Given the description of an element on the screen output the (x, y) to click on. 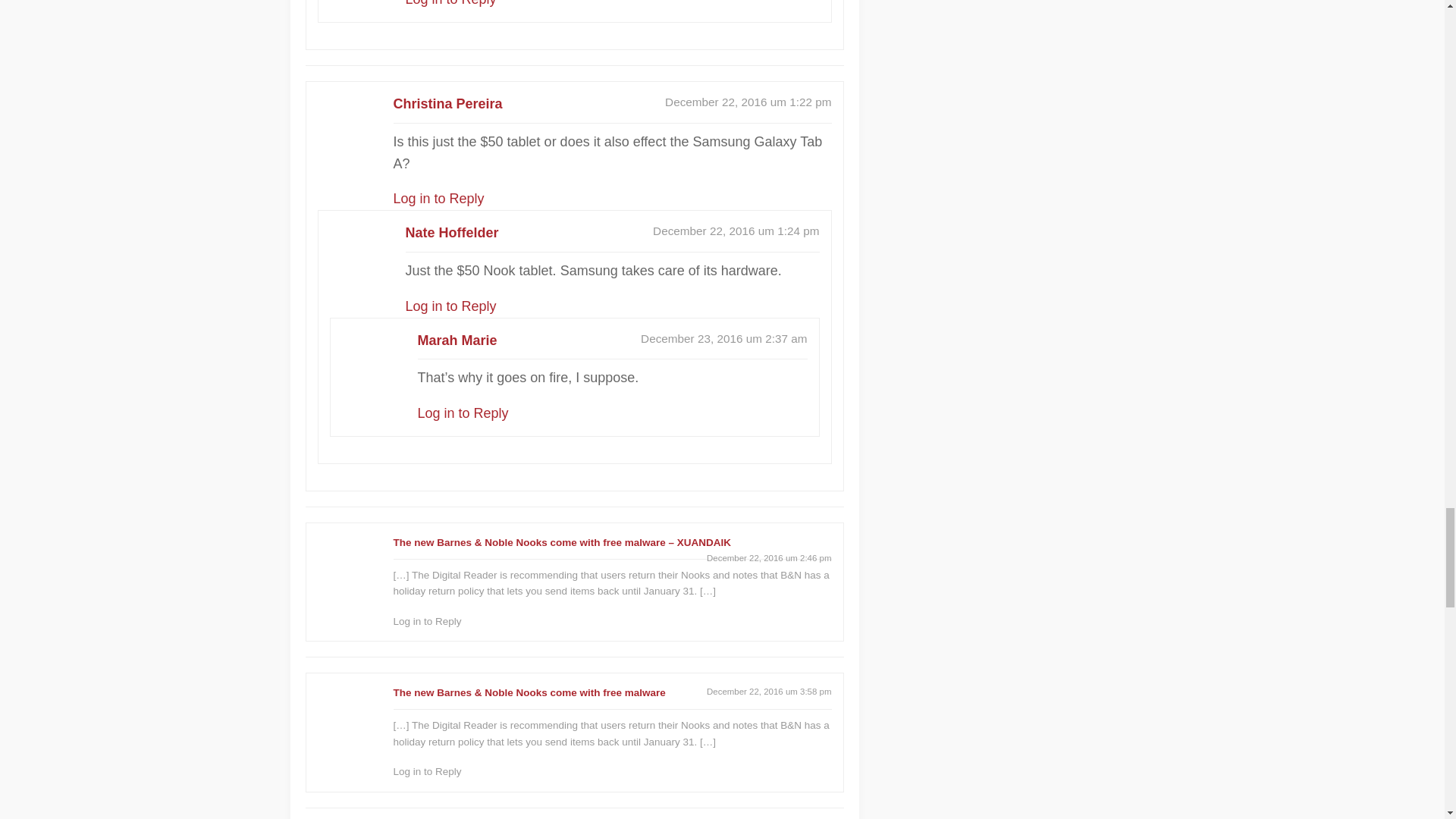
Log in to Reply (450, 3)
Log in to Reply (462, 412)
Log in to Reply (438, 198)
Log in to Reply (450, 305)
